Given the description of an element on the screen output the (x, y) to click on. 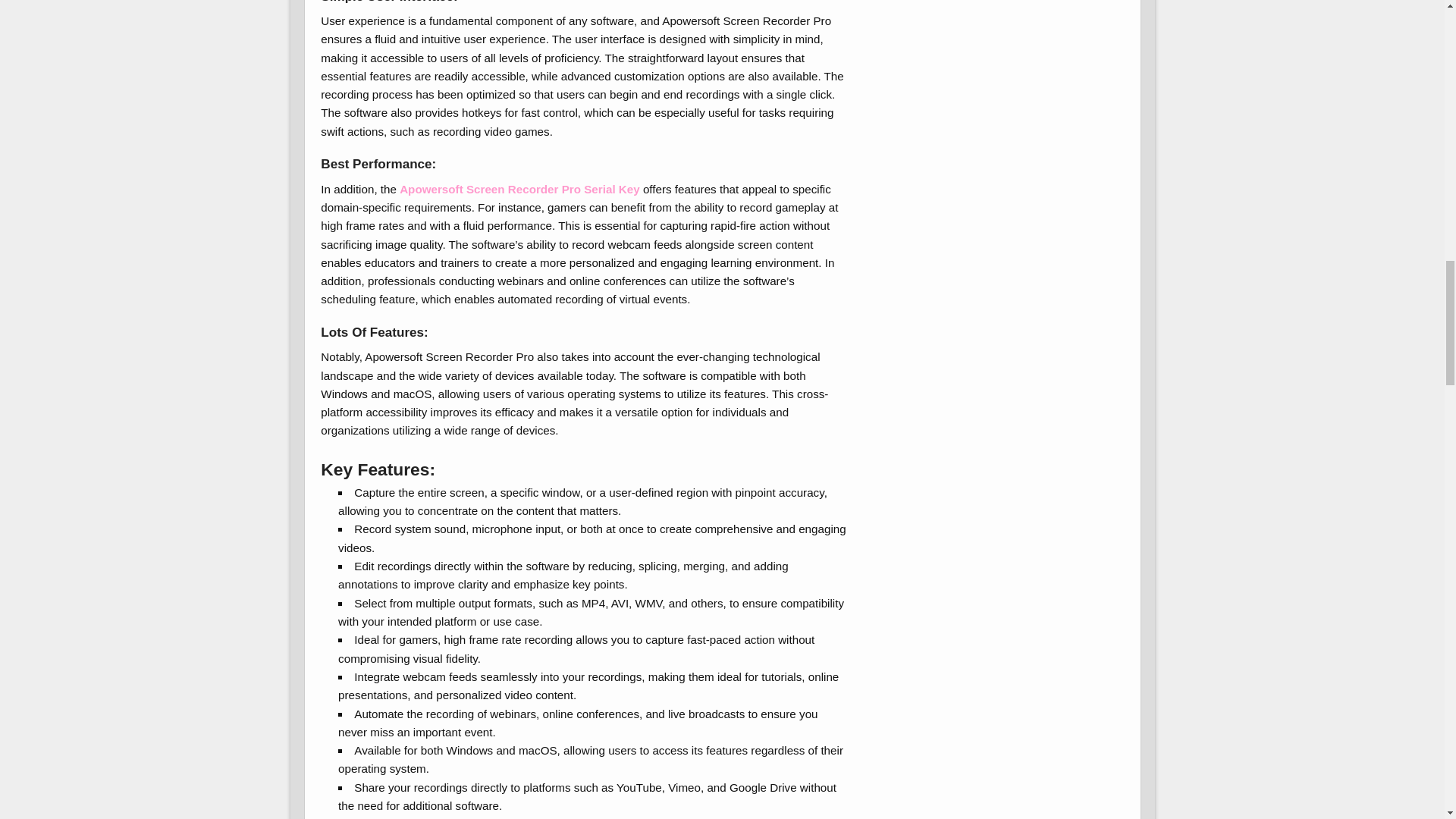
Apowersoft Screen Recorder Pro Serial Key (519, 188)
